Given the description of an element on the screen output the (x, y) to click on. 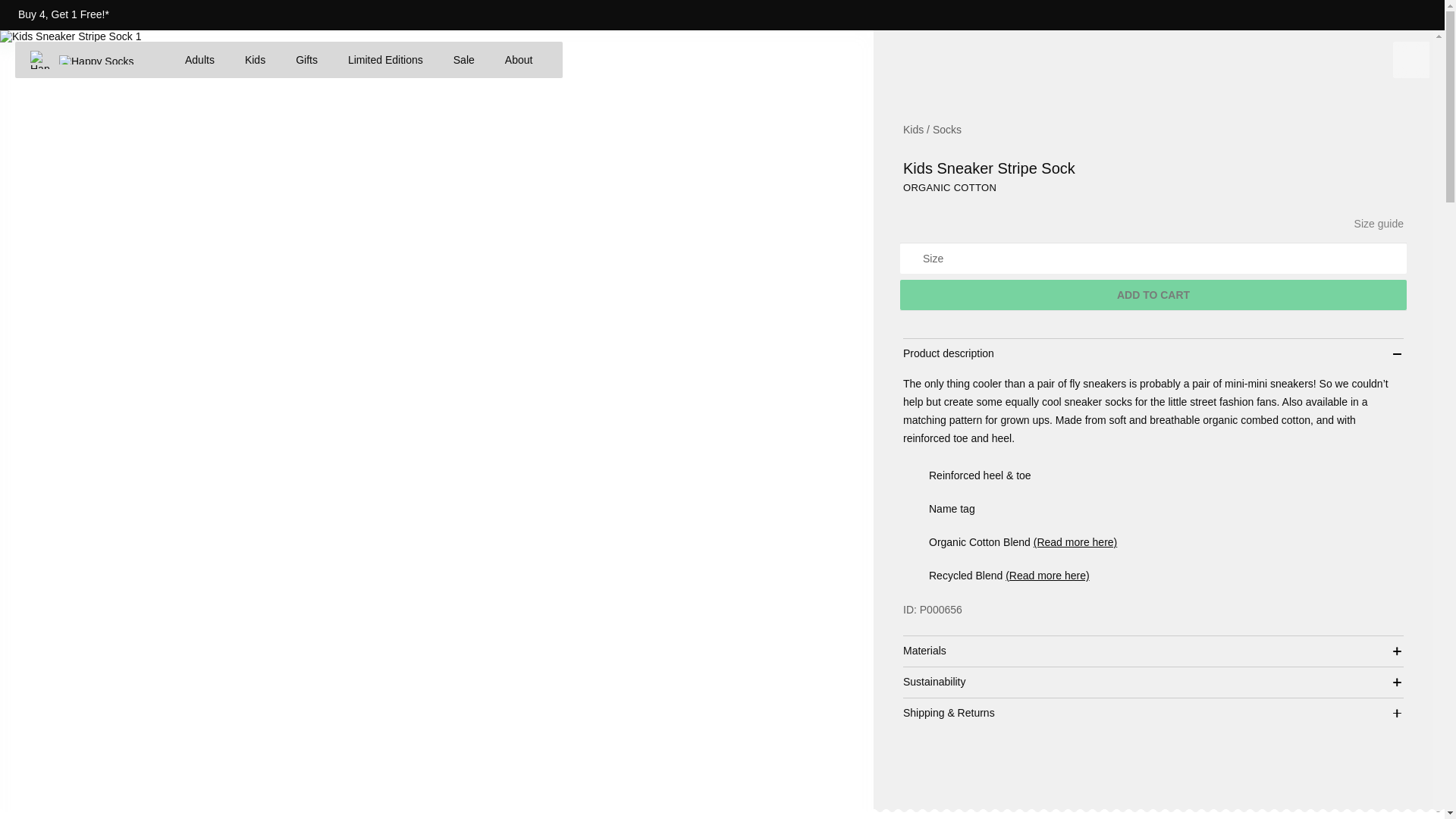
Product description (1152, 354)
ADD TO CART (1152, 295)
Kids (255, 59)
Sale (463, 59)
Size guide (1378, 224)
Sustainability (1152, 682)
Limited Editions (385, 59)
Adults (200, 59)
Materials (1152, 651)
Gifts (307, 59)
